Given the description of an element on the screen output the (x, y) to click on. 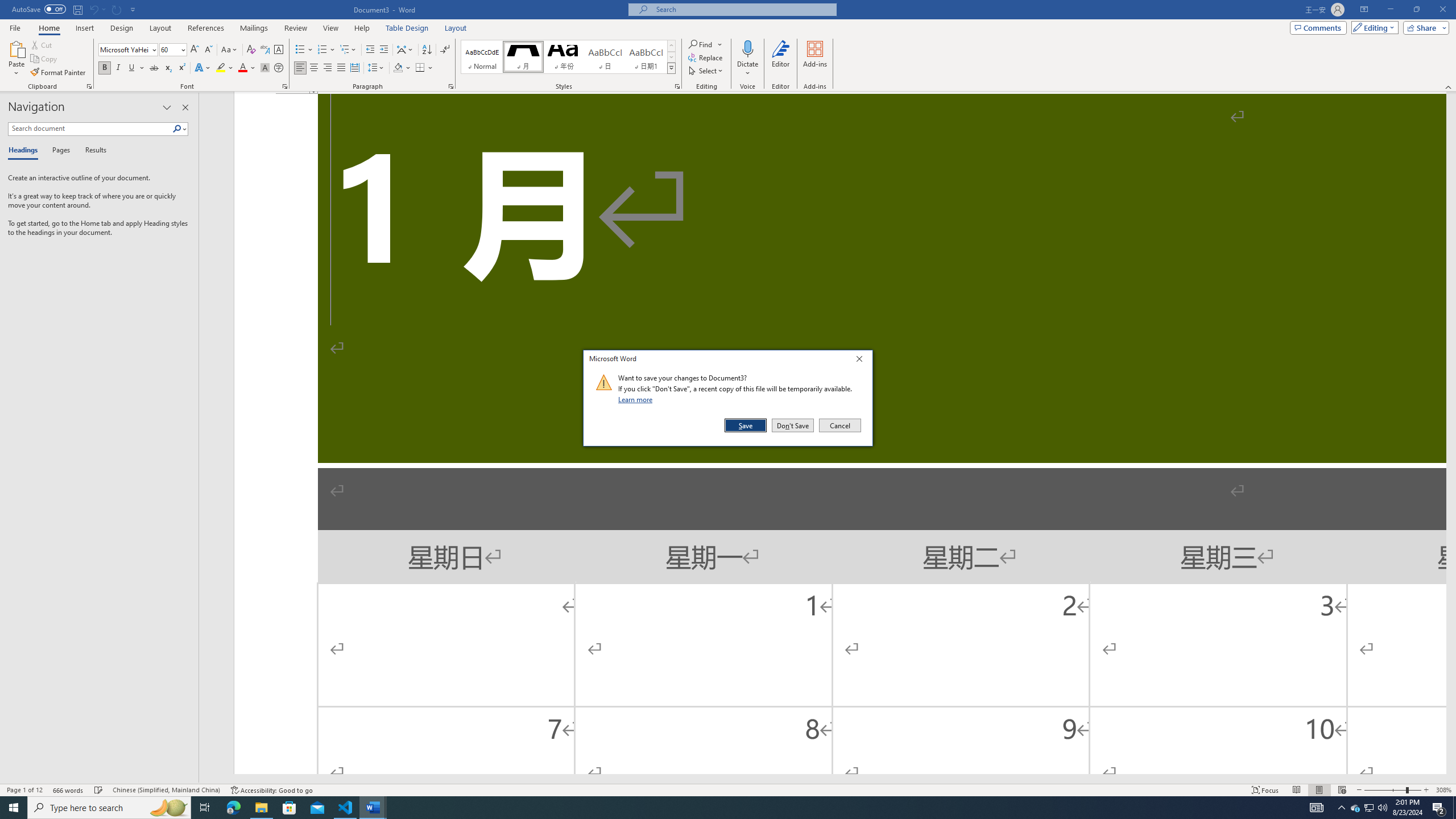
Restore Down (1416, 9)
Italic (118, 67)
Bullets (300, 49)
Font (128, 49)
View (330, 28)
Font... (285, 85)
Asian Layout (405, 49)
Action Center, 2 new notifications (1439, 807)
Pages (59, 150)
Change Case (229, 49)
Cancel (1355, 807)
References (839, 425)
Minimize (205, 28)
Microsoft search (1390, 9)
